Given the description of an element on the screen output the (x, y) to click on. 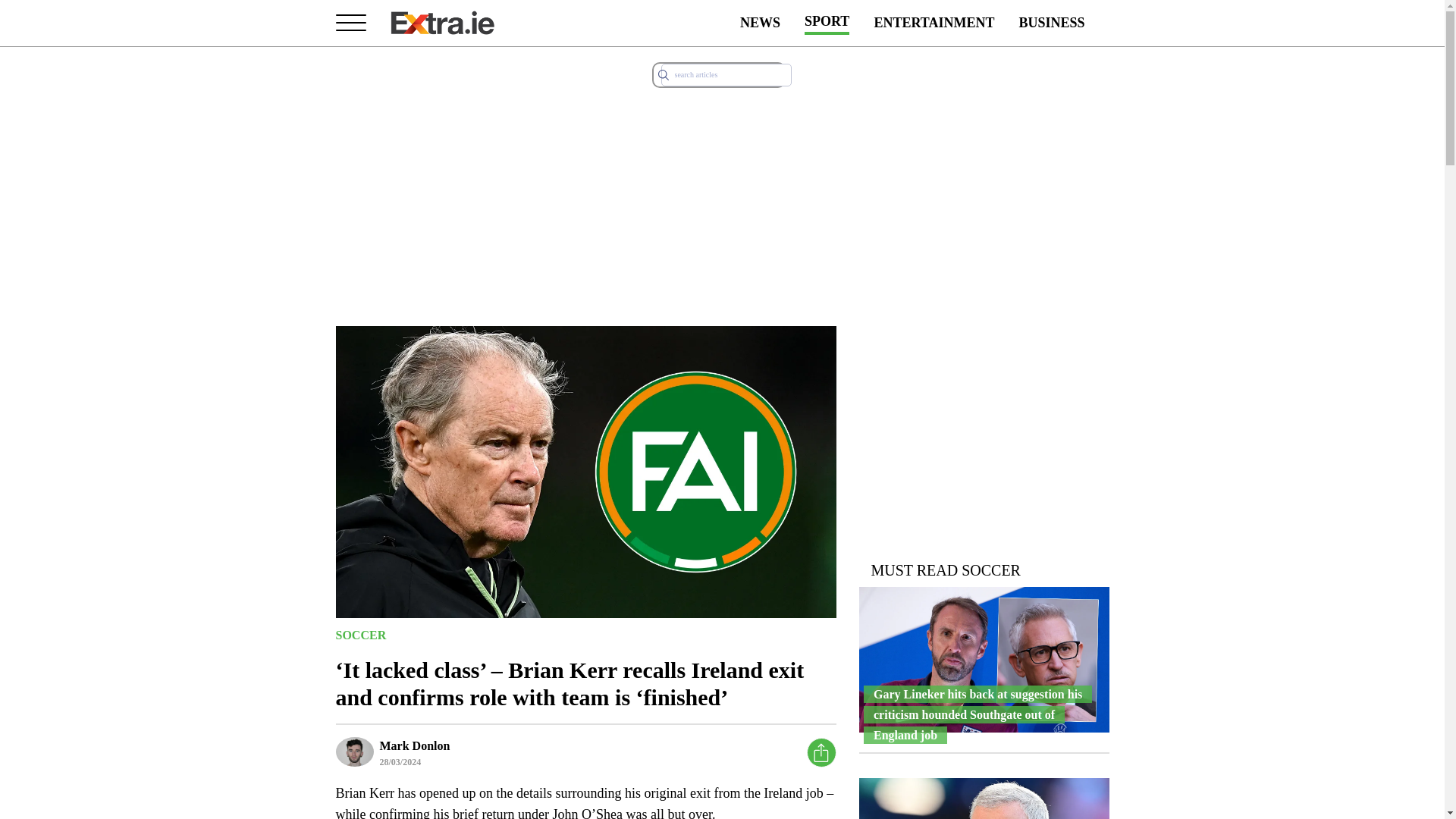
SPORT (826, 23)
SOCCER (359, 634)
Submit the search query (662, 73)
Mark Donlon (413, 744)
BUSINESS (1050, 23)
NEWS (759, 23)
ENTERTAINMENT (933, 23)
